Given the description of an element on the screen output the (x, y) to click on. 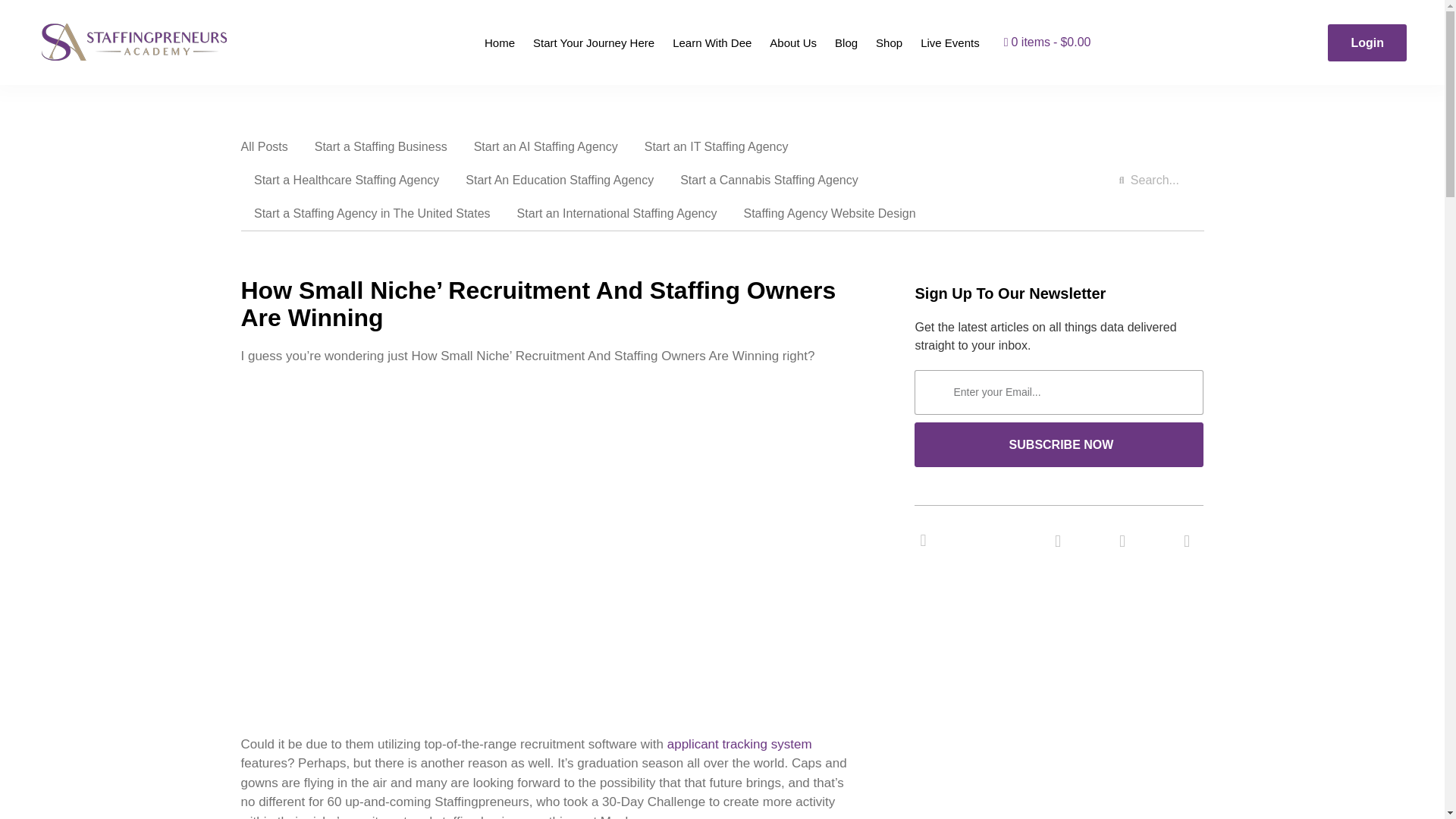
Blog (845, 42)
Start Your Journey Here (593, 42)
Home (500, 42)
About Us (792, 42)
Learn With Dee (711, 42)
Shop (888, 42)
Live Events (949, 42)
Start shopping (1047, 42)
